Given the description of an element on the screen output the (x, y) to click on. 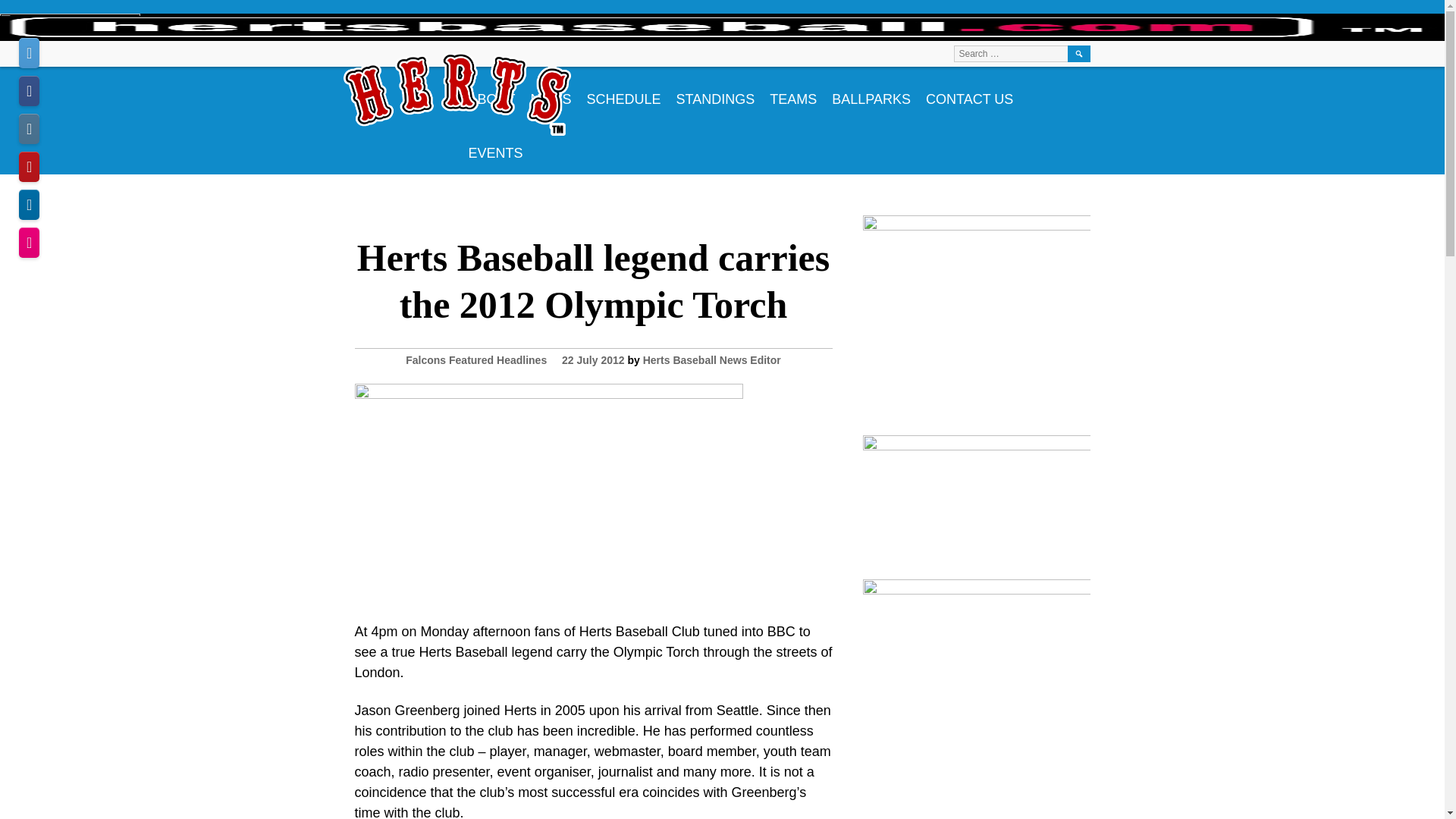
ABOUT (491, 93)
CONTACT US (969, 93)
NEWS (550, 93)
Search (1078, 53)
BALLPARKS (871, 93)
STANDINGS (715, 93)
SCHEDULE (623, 93)
TEAMS (792, 93)
